Given the description of an element on the screen output the (x, y) to click on. 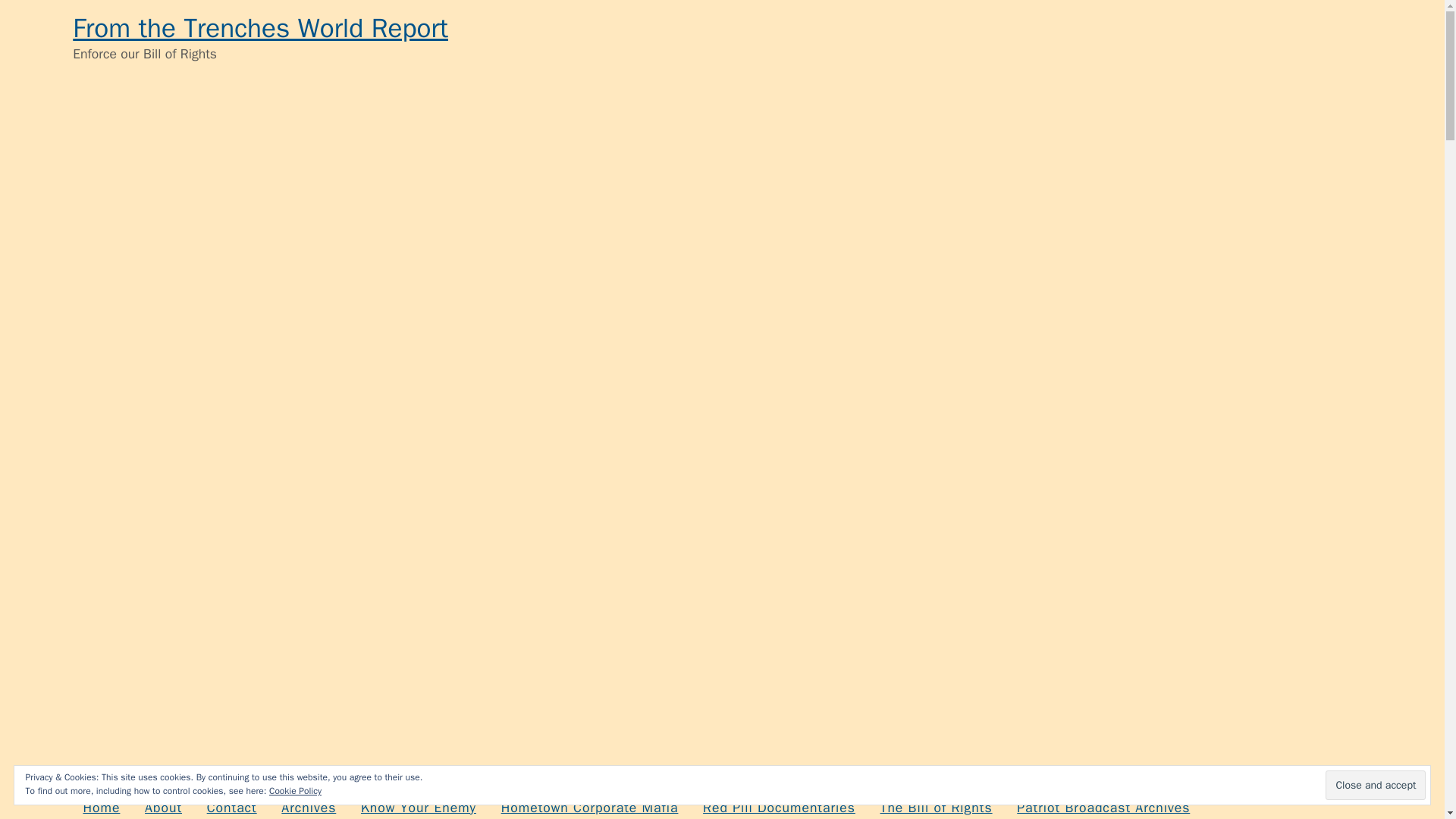
Red Pill Documentaries (778, 804)
From the Trenches World Report (260, 28)
Know Your Enemy (418, 804)
About (163, 804)
Contact (231, 804)
Archives (308, 804)
Hometown Corporate Mafia (588, 804)
Home (100, 804)
Patriot Broadcast Archives (1103, 804)
Close and accept (1374, 785)
